Given the description of an element on the screen output the (x, y) to click on. 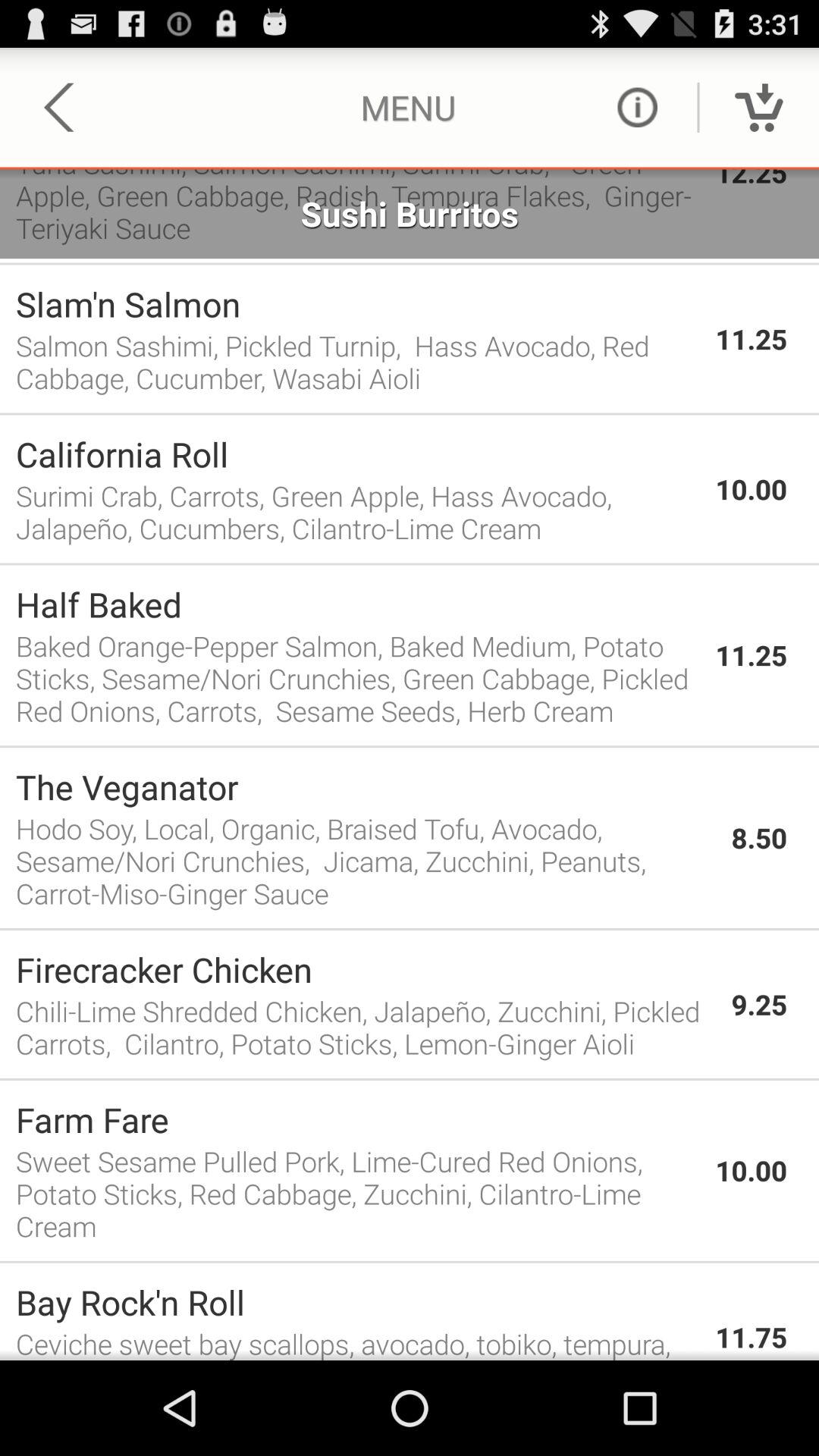
tap the icon next to 11.25 icon (357, 678)
